Given the description of an element on the screen output the (x, y) to click on. 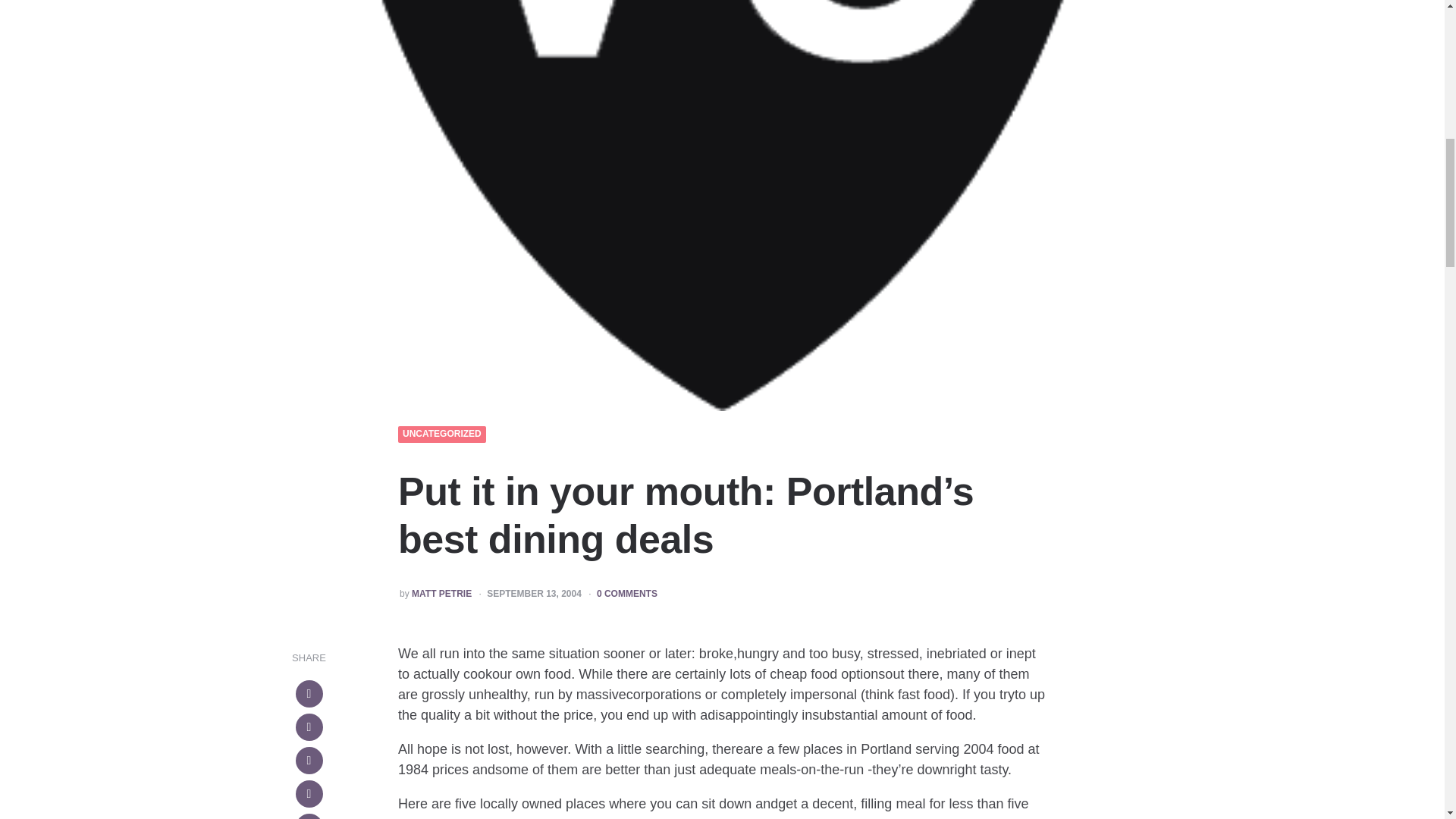
UNCATEGORIZED (442, 434)
MATT PETRIE (441, 593)
0 COMMENTS (627, 593)
